Given the description of an element on the screen output the (x, y) to click on. 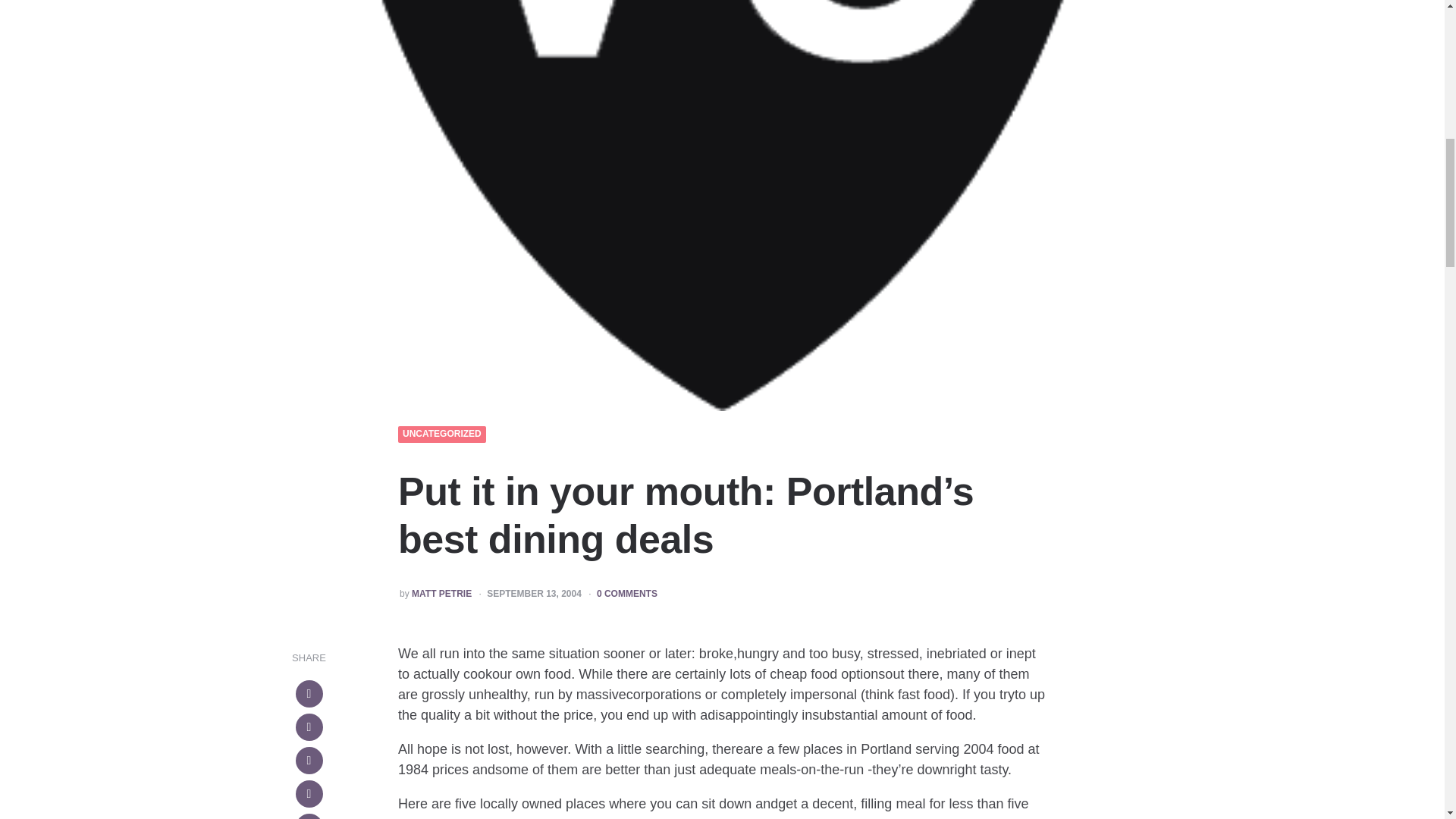
UNCATEGORIZED (442, 434)
MATT PETRIE (441, 593)
0 COMMENTS (627, 593)
